Given the description of an element on the screen output the (x, y) to click on. 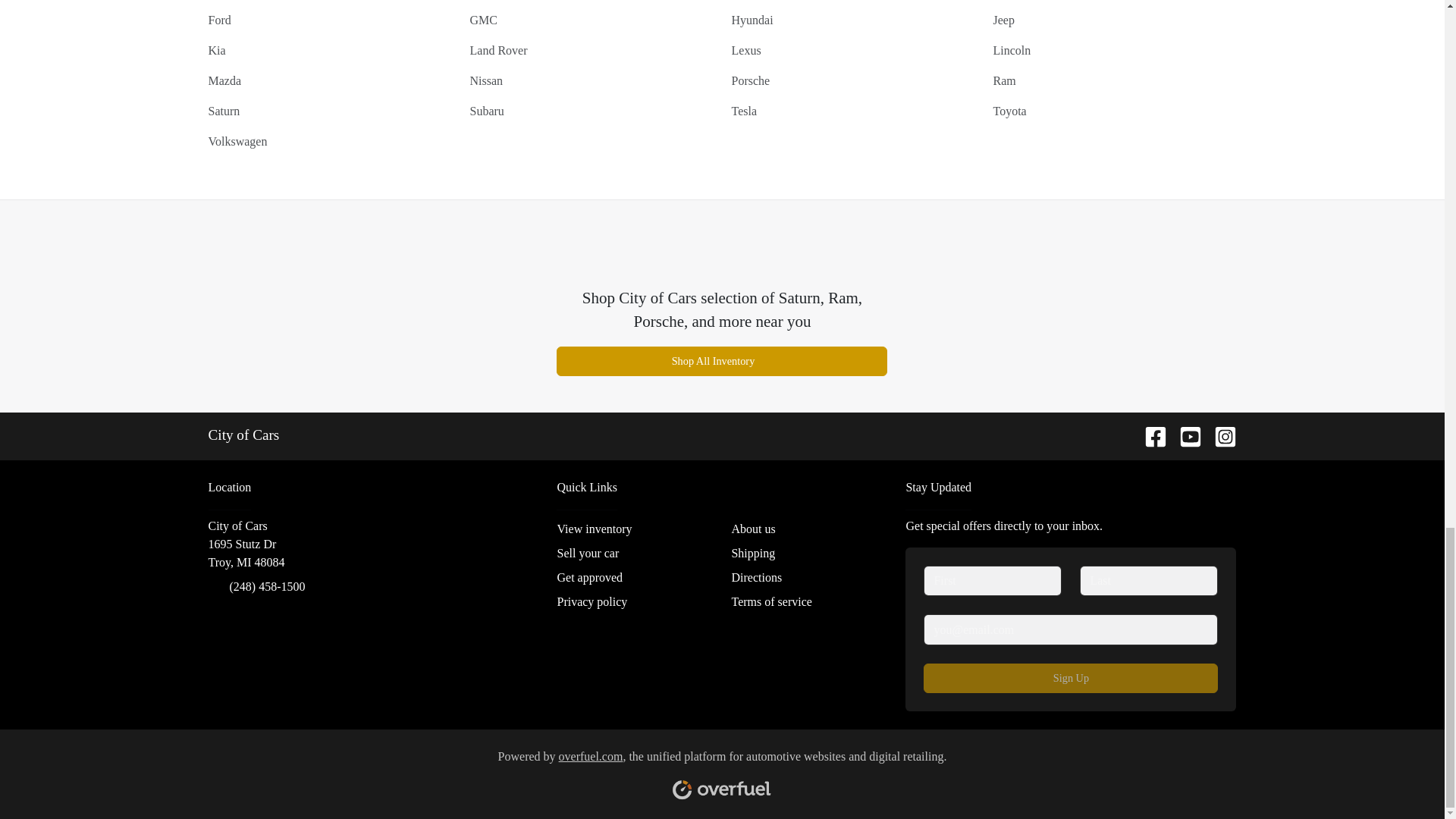
Porsche (750, 80)
Land Rover (498, 50)
GMC (483, 19)
Hyundai (751, 19)
Lincoln (1011, 50)
Mazda (224, 80)
Jeep (1003, 19)
Lexus (745, 50)
Nissan (486, 80)
Kia (216, 50)
